Given the description of an element on the screen output the (x, y) to click on. 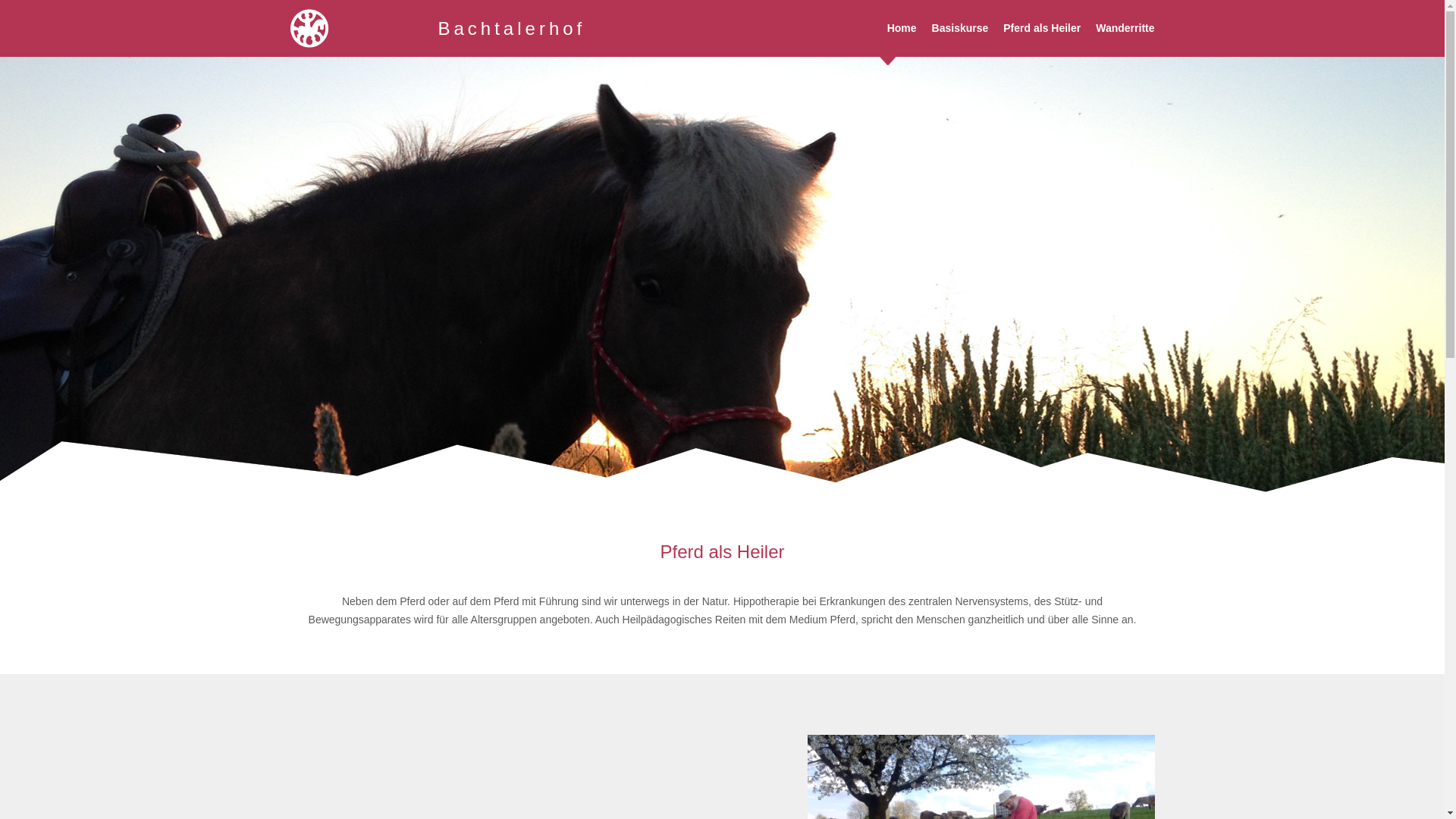
Wanderritte Element type: text (1124, 28)
Home Element type: text (901, 28)
Pferd als Heiler Element type: text (1041, 28)
Basiskurse Element type: text (960, 28)
